Given the description of an element on the screen output the (x, y) to click on. 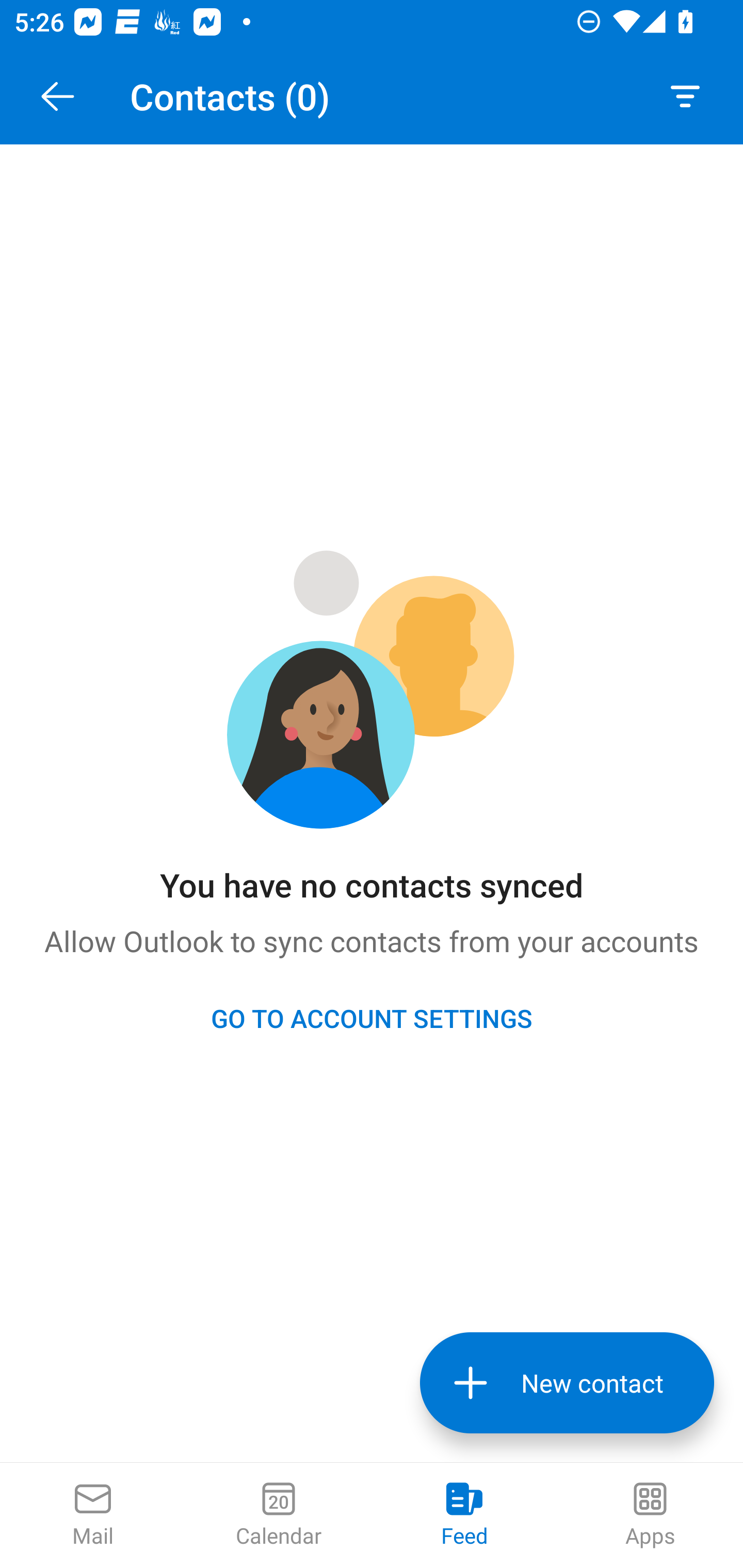
Back (57, 96)
Filter (684, 96)
GO TO ACCOUNT SETTINGS (371, 1018)
New contact (566, 1382)
Mail (92, 1515)
Calendar (278, 1515)
Apps (650, 1515)
